Given the description of an element on the screen output the (x, y) to click on. 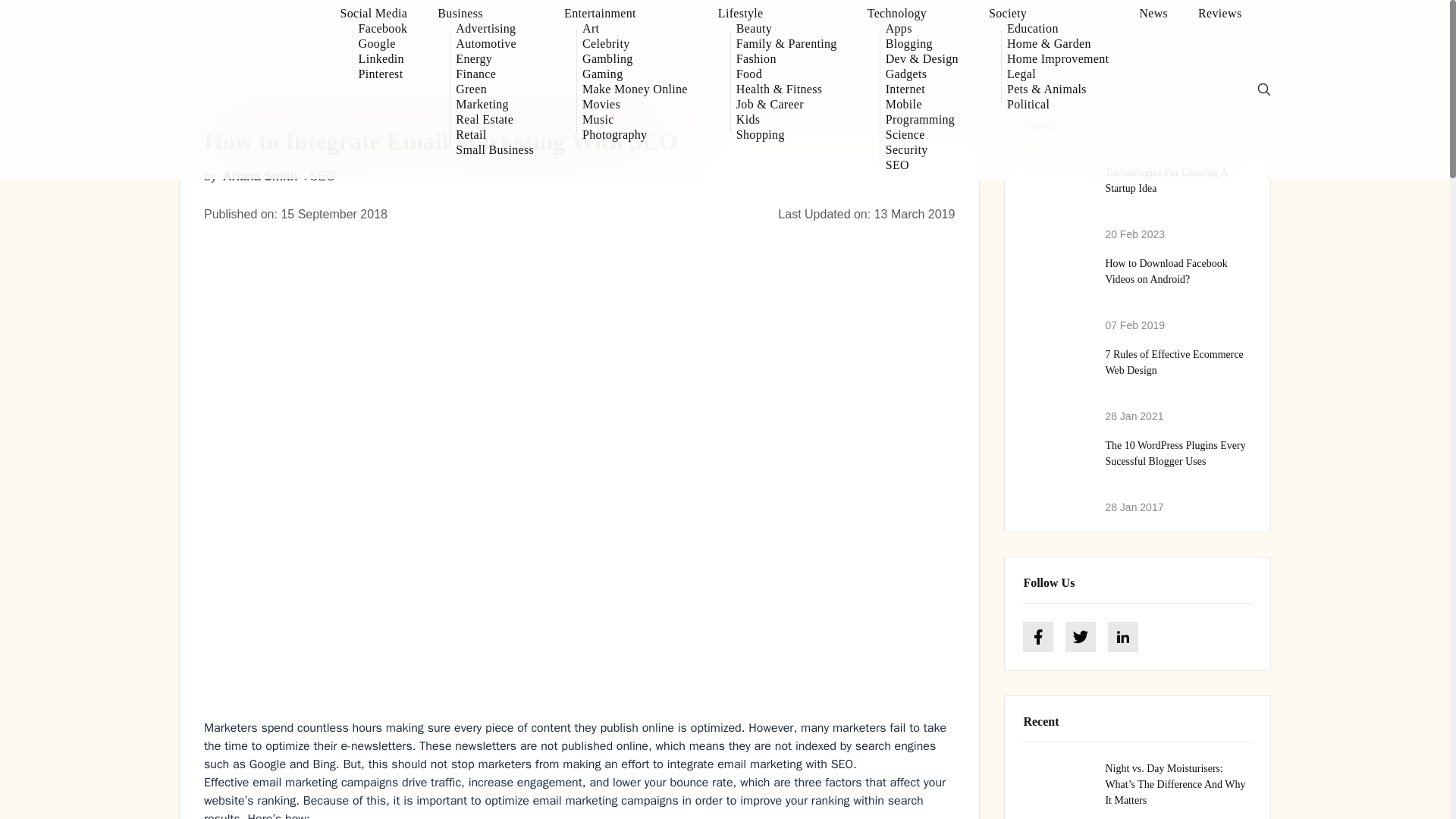
Internet (921, 89)
Gambling (634, 58)
Movies (634, 104)
Technology (912, 13)
Photography (634, 134)
Green (494, 89)
Celebrity (634, 43)
Fashion (786, 58)
Make Money Online (634, 89)
Beauty (786, 28)
Food (786, 73)
Gadgets (921, 73)
Pinterest (382, 73)
Linkedin (382, 58)
Blogging (921, 43)
